Given the description of an element on the screen output the (x, y) to click on. 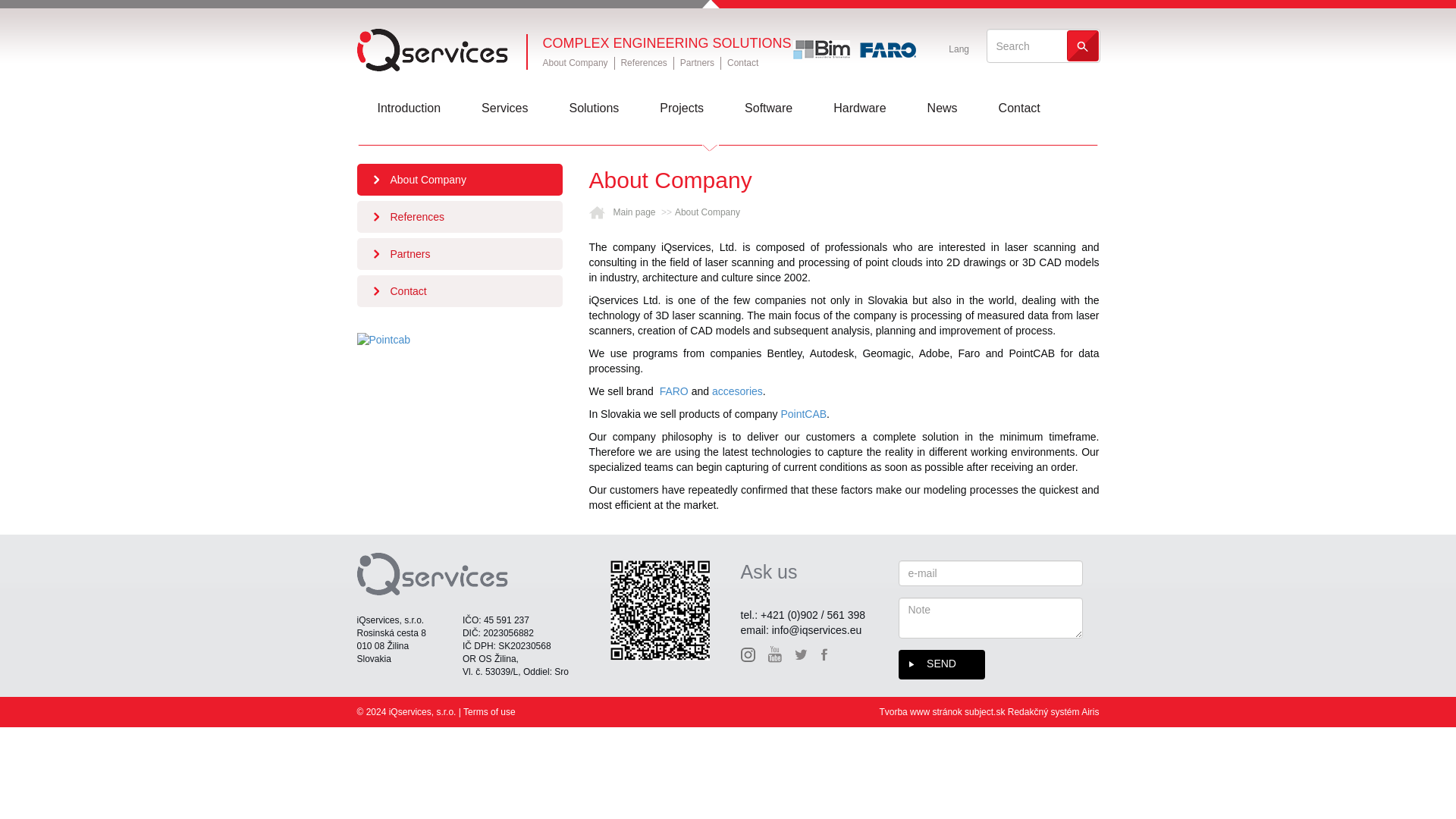
Contact (459, 291)
About Company (575, 62)
News (941, 108)
accesories (736, 390)
Contact (742, 62)
References (459, 216)
Hardware (859, 108)
FARO (673, 390)
PointCAB (803, 413)
Services (504, 108)
